Given the description of an element on the screen output the (x, y) to click on. 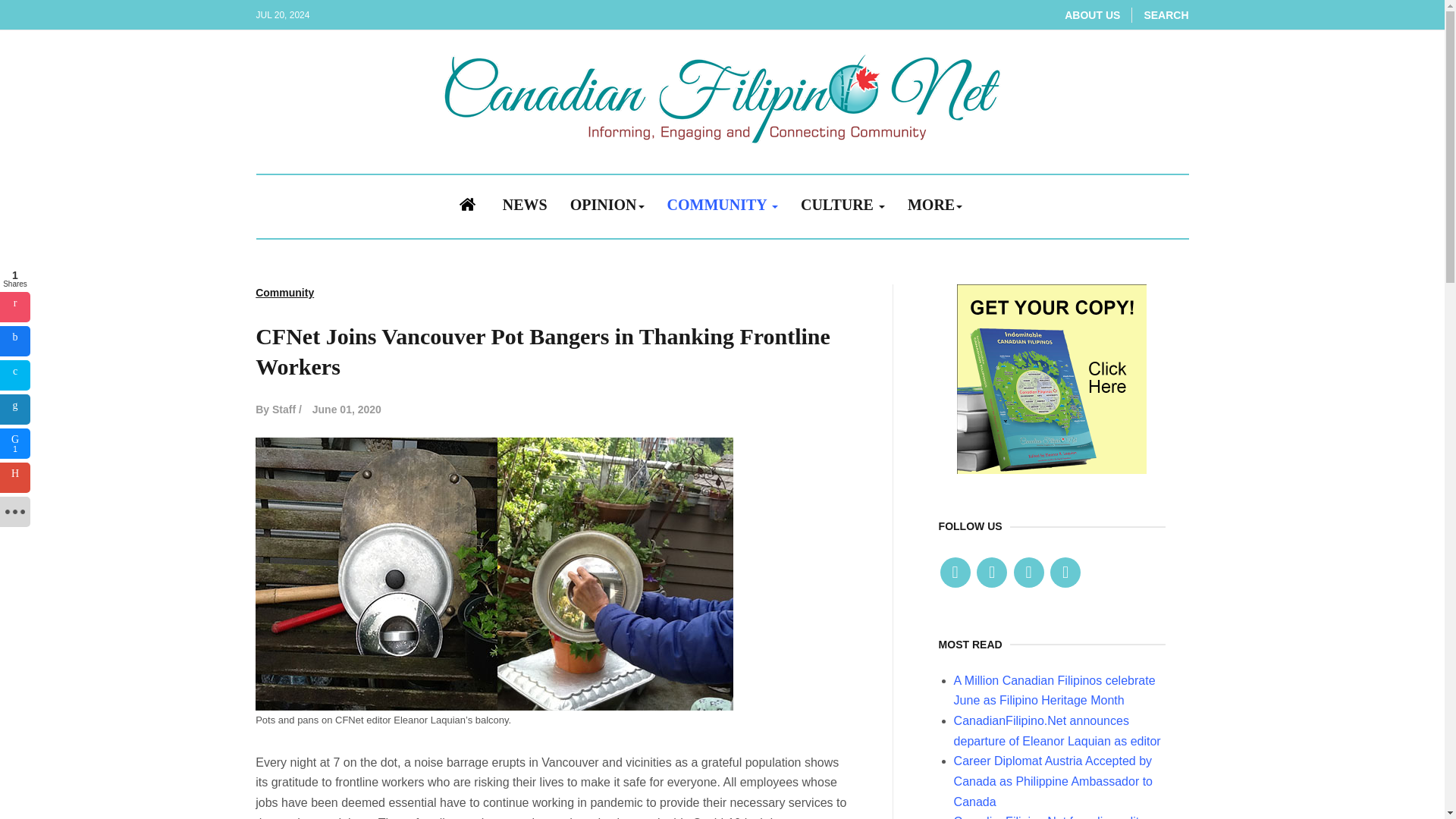
Published:  (347, 409)
ABOUT US (1091, 14)
CFNET  (1051, 377)
COMMUNITY (721, 205)
Canadian Filipino  (722, 98)
CULTURE (842, 205)
SEARCH (1165, 14)
Category:  (285, 293)
Written by:  (278, 409)
